Given the description of an element on the screen output the (x, y) to click on. 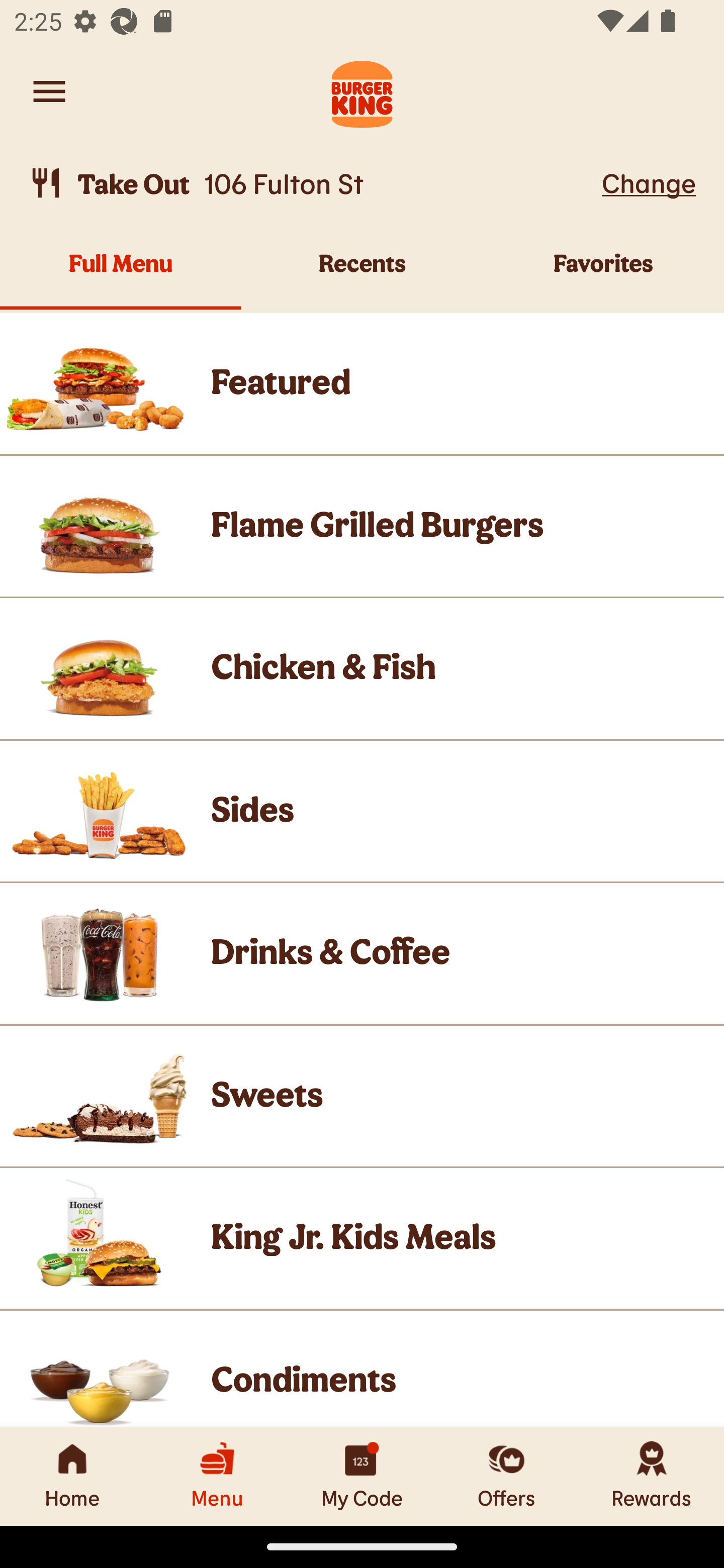
Burger King Logo. Navigate to Home (362, 91)
Navigate to account menu  (49, 91)
Take Out, 106 Fulton St  Take Out 106 Fulton St (311, 183)
Change (648, 182)
Full Menu (120, 273)
Recents (361, 273)
Favorites (603, 273)
Product Image, Featured Product Image Featured (362, 383)
Product Image, Sides Product Image Sides (362, 810)
Product Image, Sweets Product Image Sweets (362, 1095)
Product Image, Condiments Product Image Condiments (362, 1368)
Home (72, 1475)
Menu (216, 1475)
My Code (361, 1475)
Offers (506, 1475)
Rewards (651, 1475)
